Given the description of an element on the screen output the (x, y) to click on. 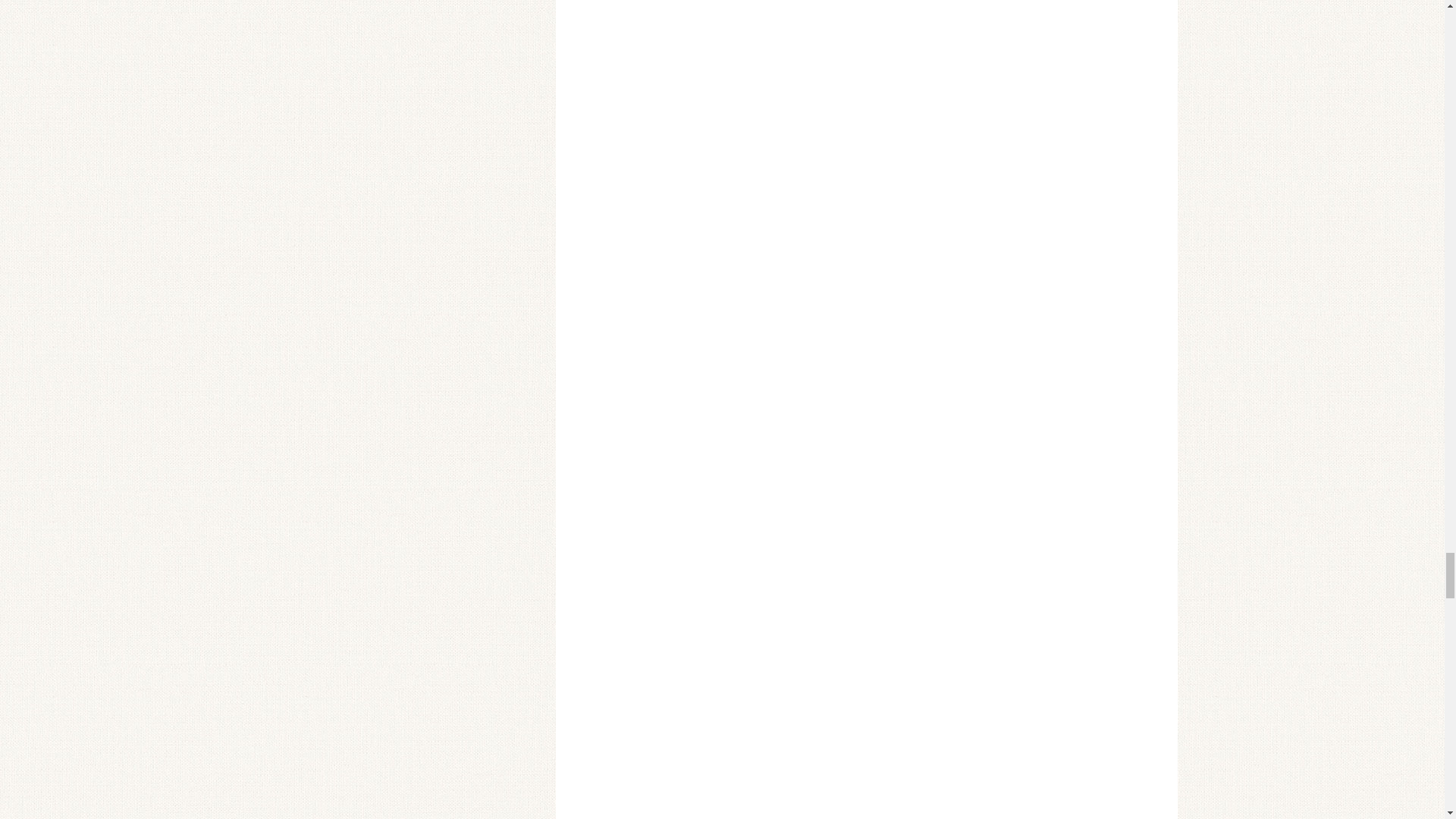
text (866, 789)
Neutral-Fall-Mantel-pinterest-image (865, 585)
